Given the description of an element on the screen output the (x, y) to click on. 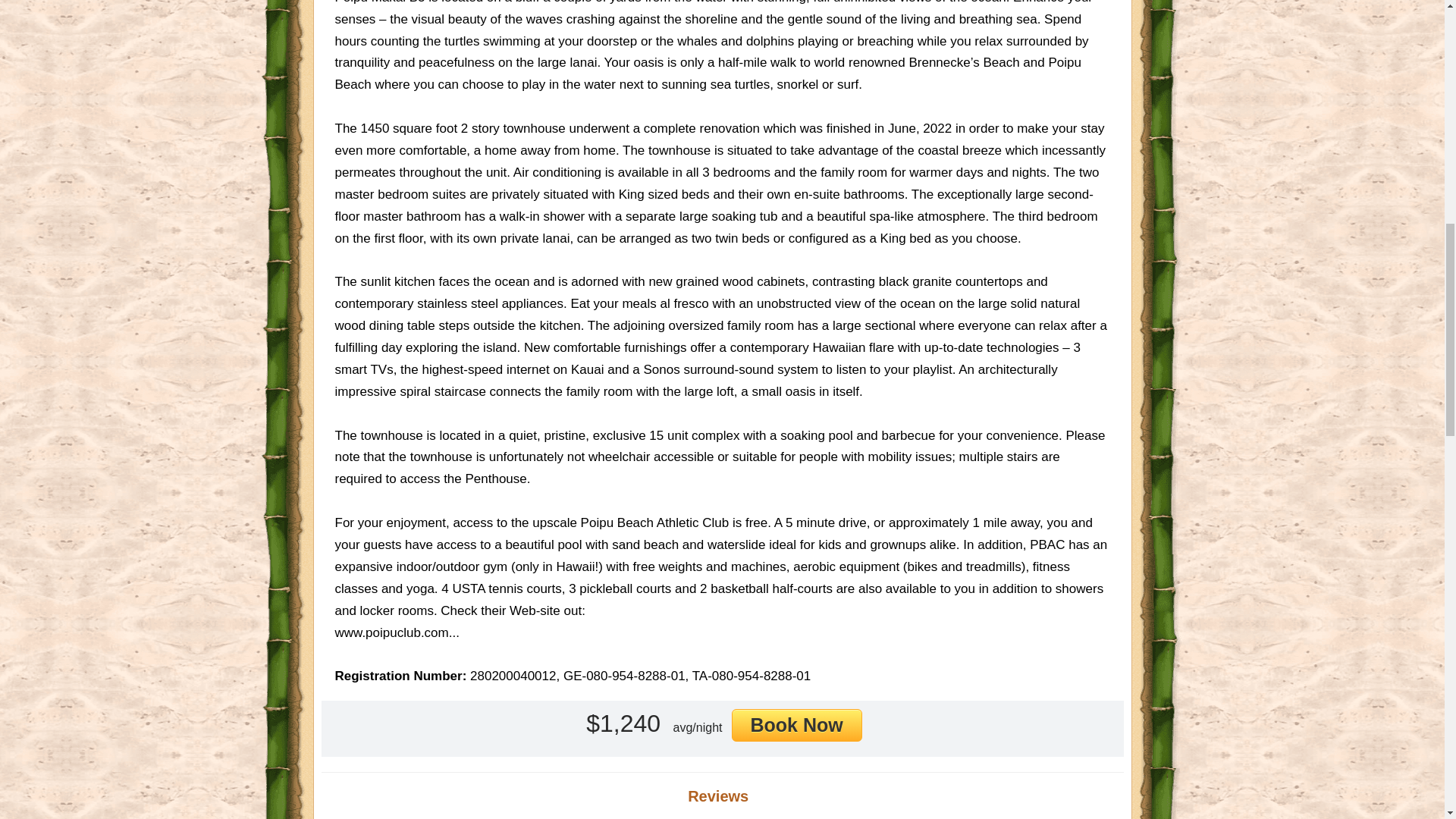
Book Now (796, 725)
